Given the description of an element on the screen output the (x, y) to click on. 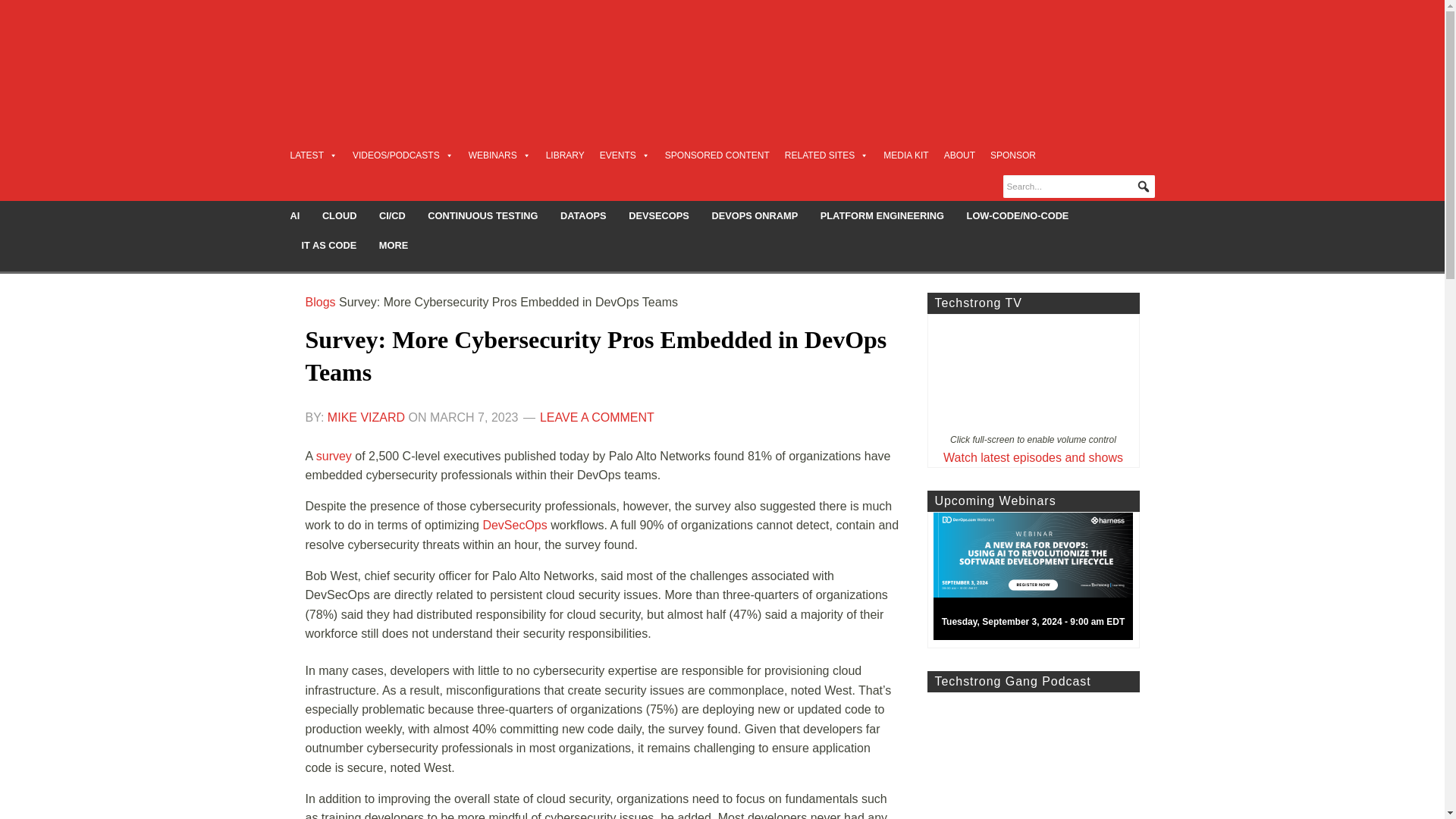
Tuesday, September 3, 2024 - 9:00 am EDT (1038, 579)
Techstrong Gang (1032, 755)
DEVOPS.COM (414, 56)
RELATED SITES (825, 155)
LIBRARY (565, 155)
SPONSORED CONTENT (717, 155)
WEBINARS (499, 155)
LATEST (312, 155)
EVENTS (624, 155)
